Given the description of an element on the screen output the (x, y) to click on. 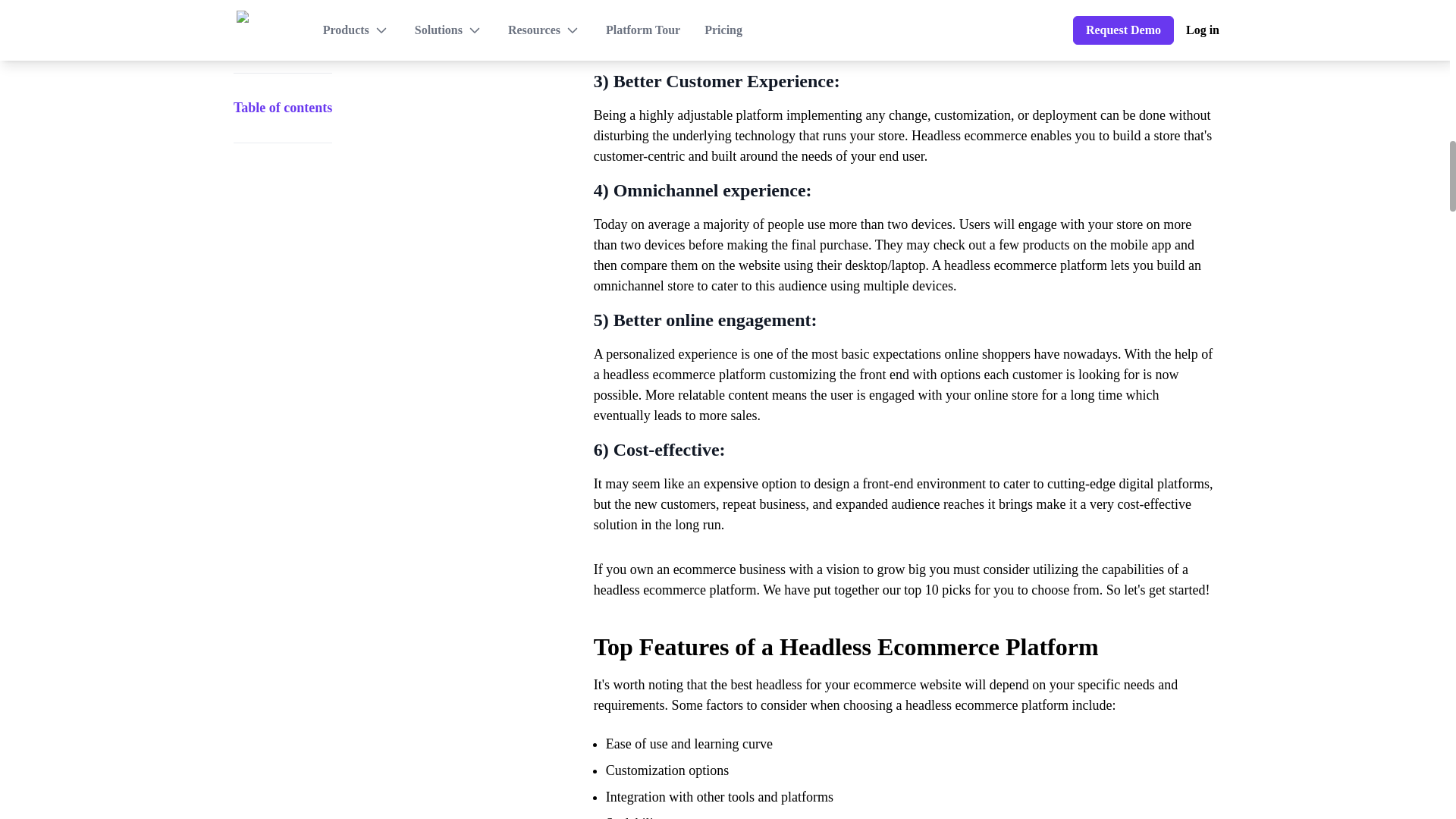
Top Features of a Headless Ecommerce Platform (904, 637)
